Given the description of an element on the screen output the (x, y) to click on. 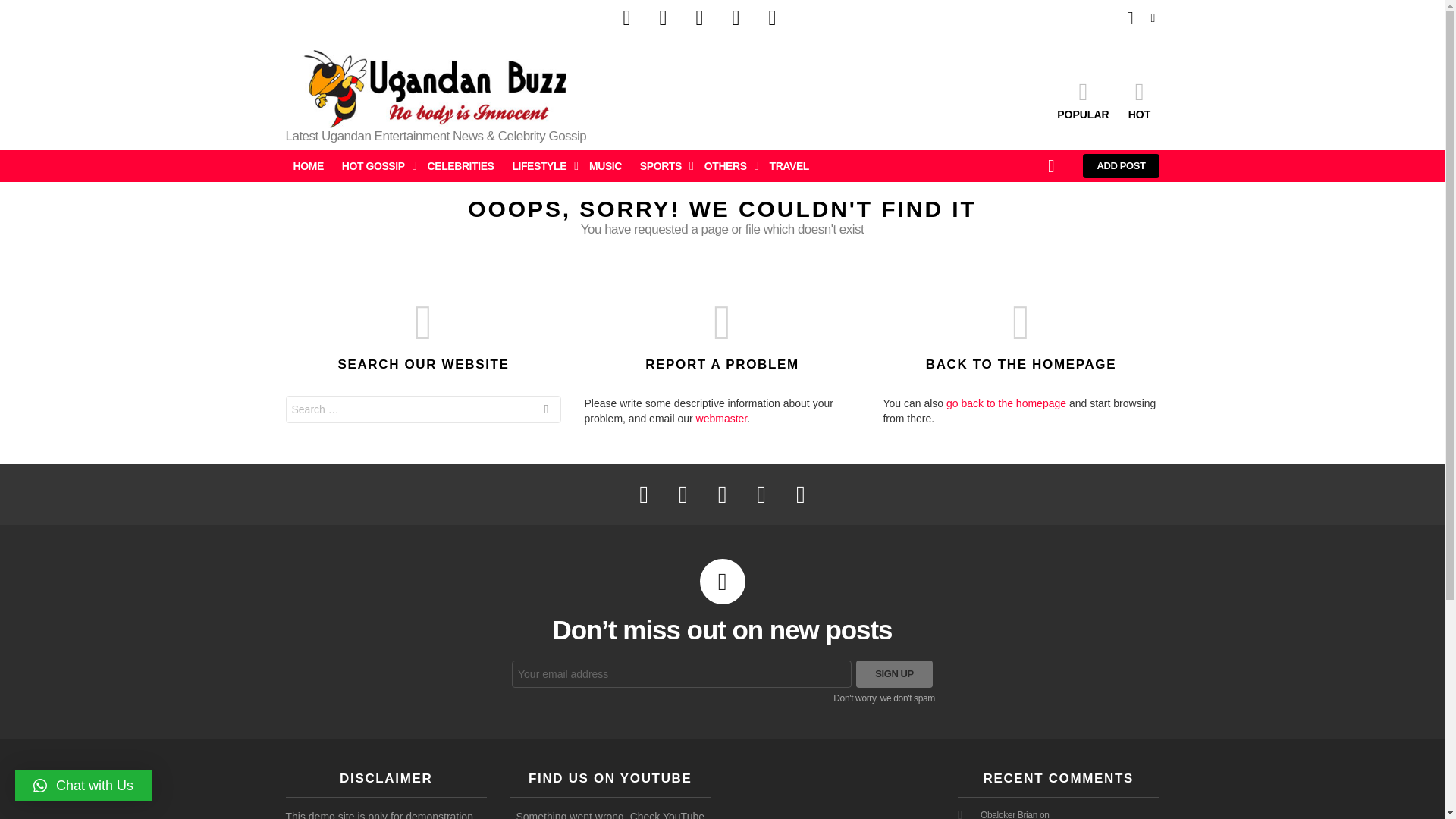
Sign up (894, 673)
LIFESTYLE (540, 165)
HOME (307, 165)
pinterest (735, 18)
MUSIC (604, 165)
HOT (1138, 99)
facebook (626, 18)
youtube (772, 18)
CELEBRITIES (461, 165)
twitter (663, 18)
